Given the description of an element on the screen output the (x, y) to click on. 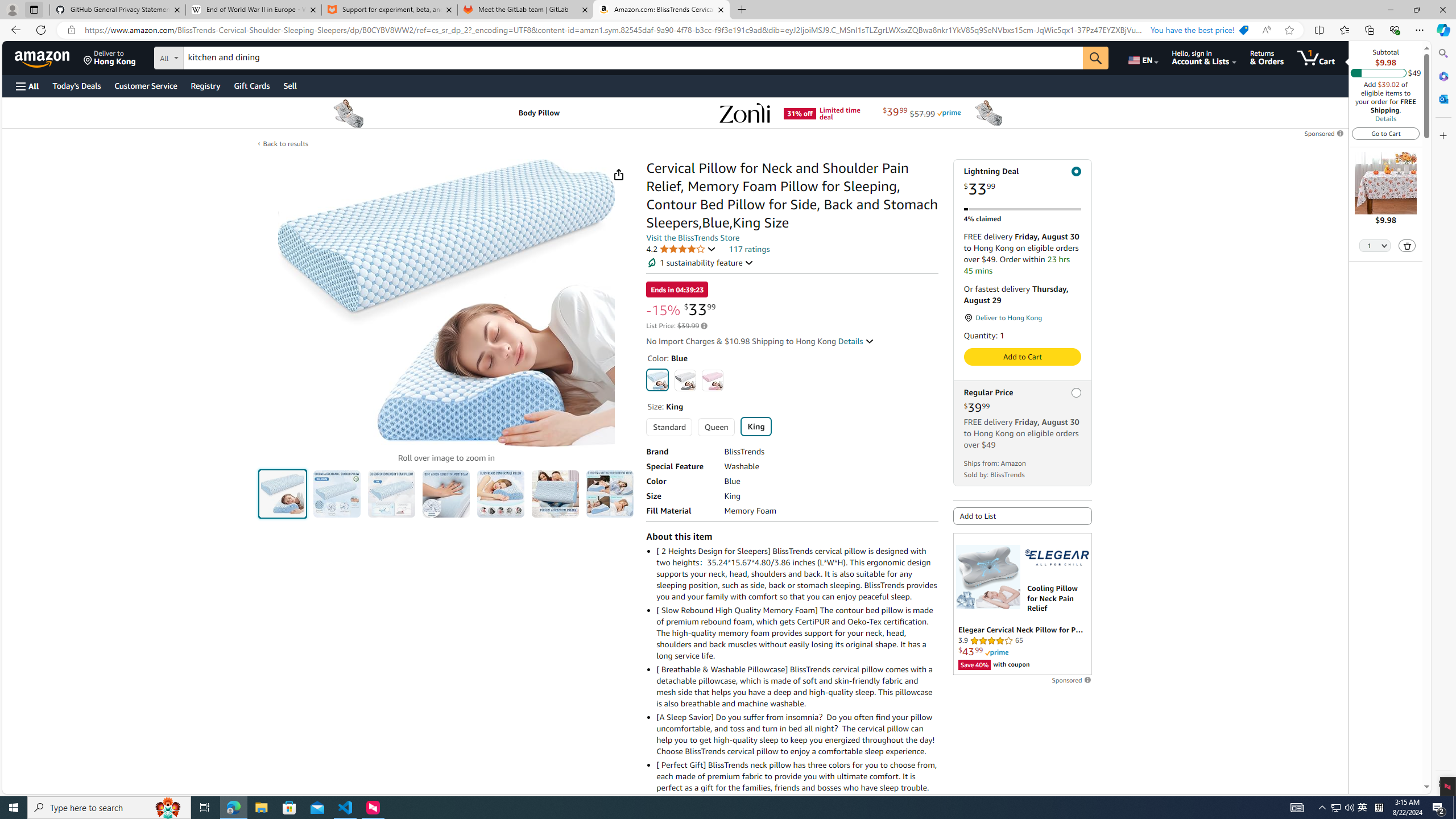
Grey (684, 380)
Returns & Orders (1266, 57)
117 ratings (749, 248)
Sponsored ad (1022, 603)
1 item in cart (1315, 57)
GitHub General Privacy Statement - GitHub Docs (117, 9)
